Given the description of an element on the screen output the (x, y) to click on. 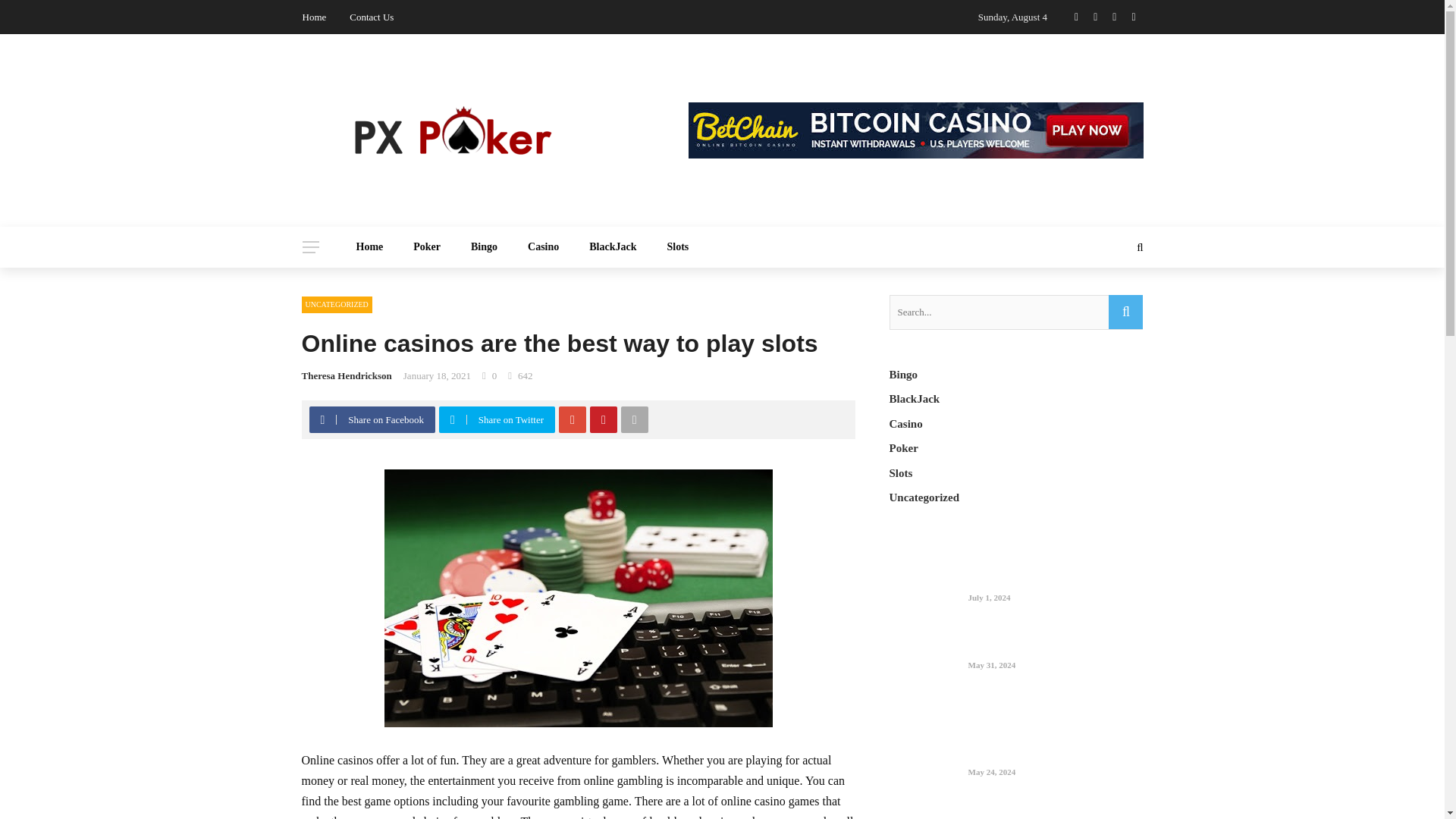
Poker (426, 246)
Home (369, 246)
Share on Twitter (499, 419)
Share on Facebook (373, 419)
Home (313, 16)
BlackJack (611, 246)
UNCATEGORIZED (336, 304)
Casino (542, 246)
Bingo (483, 246)
Contact Us (371, 16)
